Given the description of an element on the screen output the (x, y) to click on. 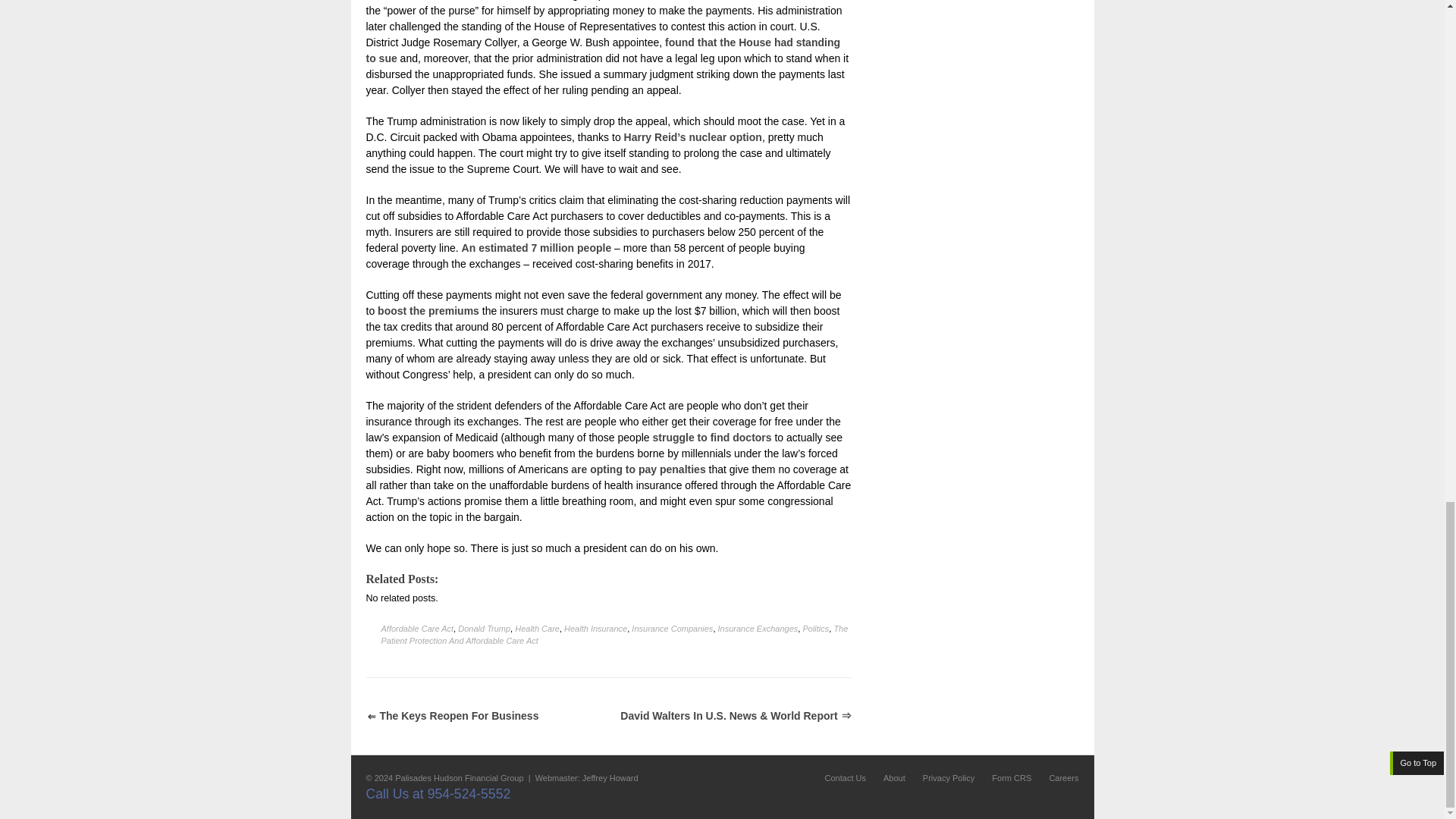
struggle to find doctors (711, 437)
Health Care (537, 628)
An estimated 7 million people (536, 247)
boost the premiums (428, 310)
Donald Trump (484, 628)
are opting to pay penalties (637, 469)
found that the House had standing to sue (602, 50)
Affordable Care Act (416, 628)
Health Insurance (595, 628)
